Given the description of an element on the screen output the (x, y) to click on. 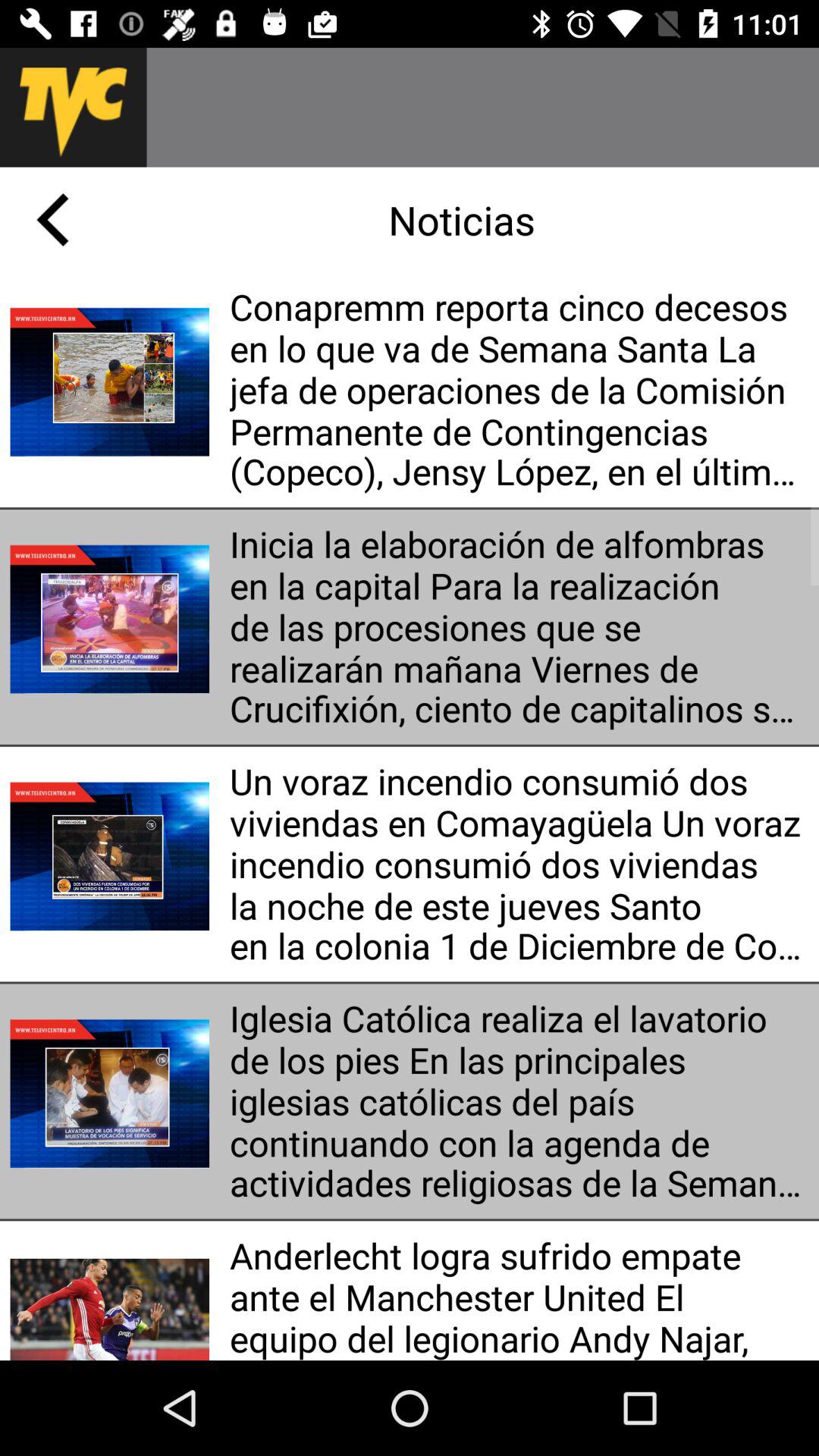
turn on item above the anderlecht logra sufrido (518, 1101)
